Given the description of an element on the screen output the (x, y) to click on. 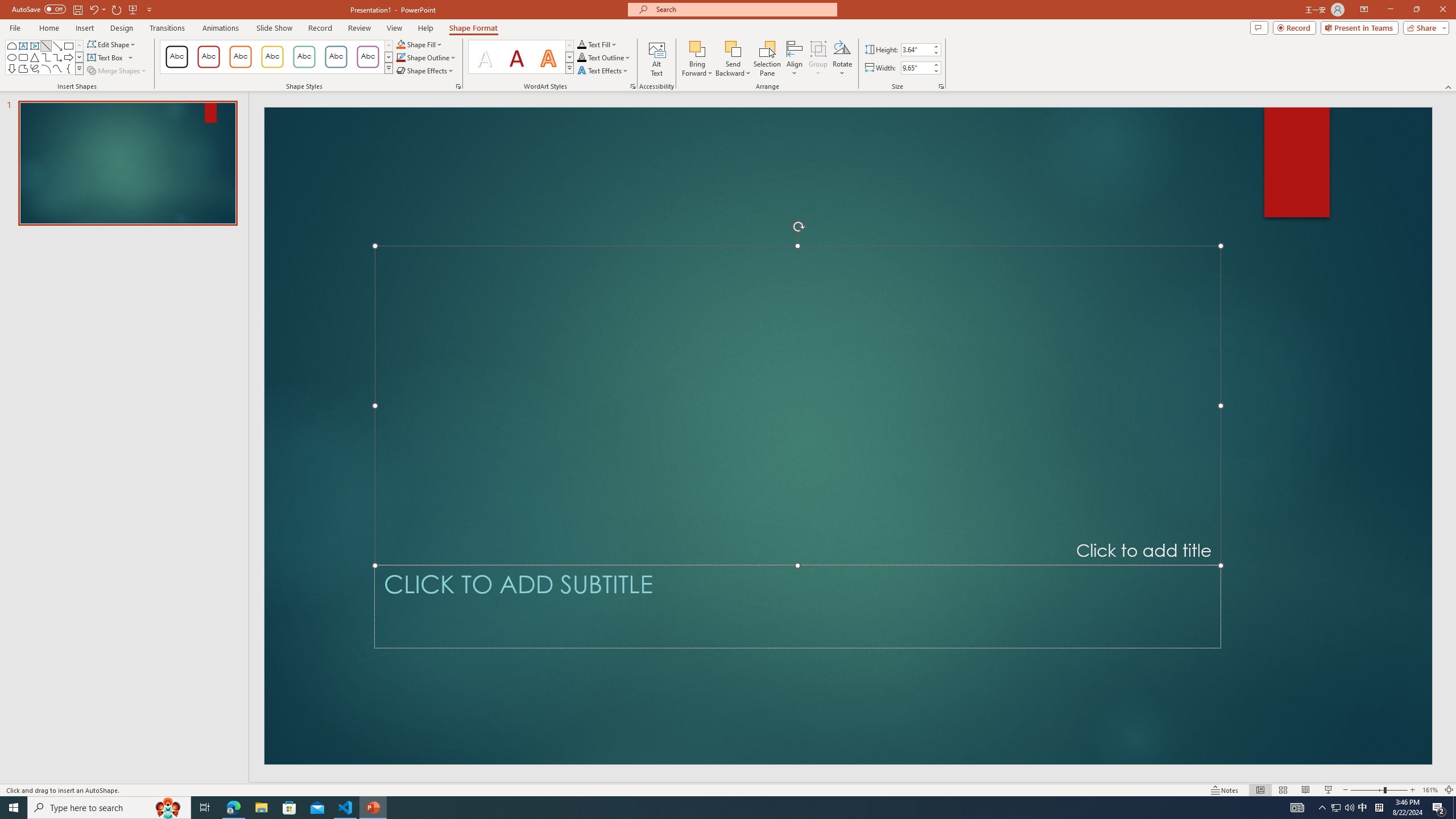
Text Box (23, 45)
Align (794, 58)
Text Outline (604, 56)
Isosceles Triangle (34, 57)
Colored Outline - Dark Red, Accent 1 (208, 56)
Arc (46, 68)
Send Backward (733, 48)
Connector: Elbow (46, 57)
Colored Outline - Green, Accent 4 (304, 56)
Rotate (841, 58)
